Given the description of an element on the screen output the (x, y) to click on. 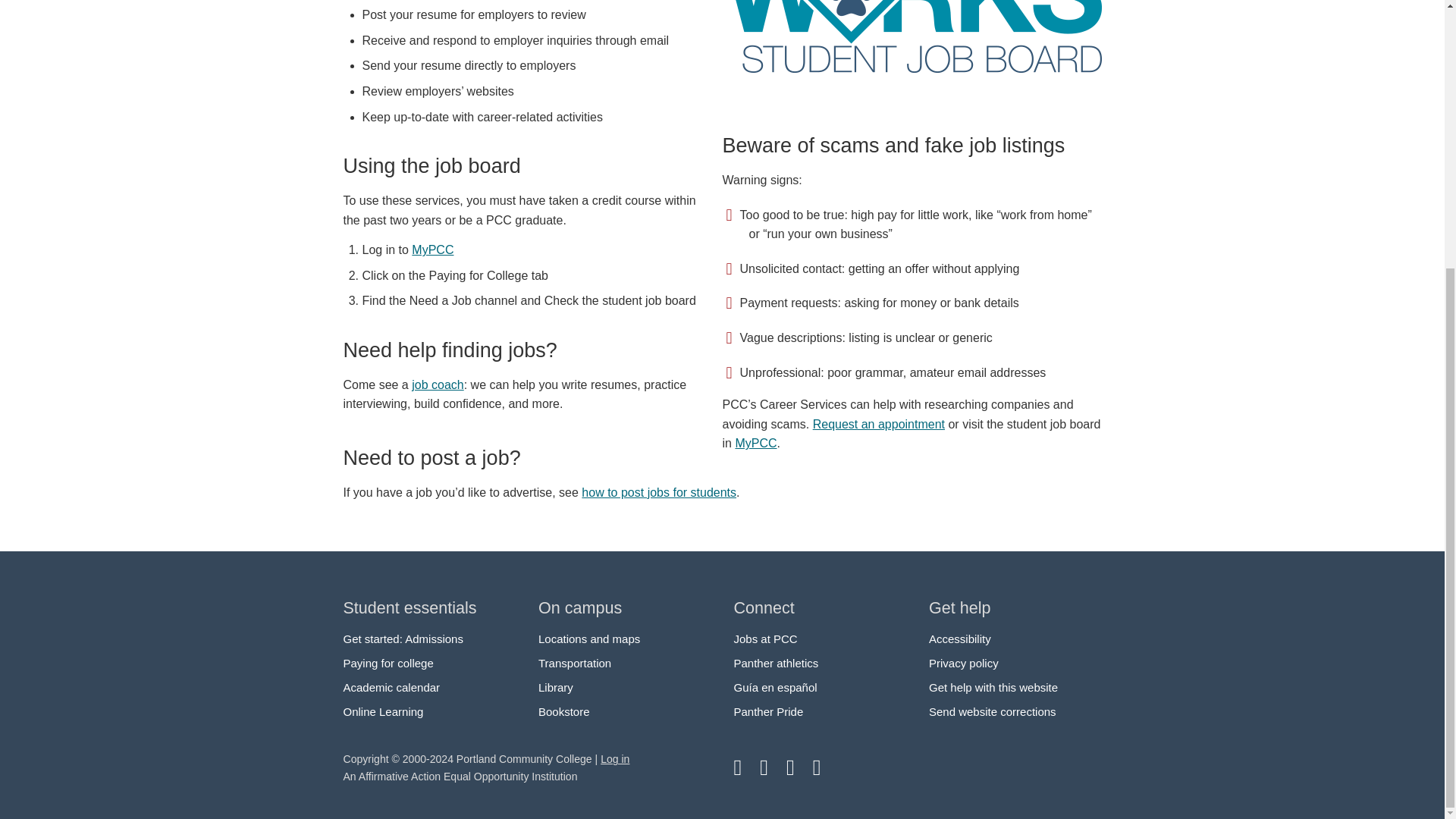
Academic calendar (390, 686)
how to post jobs for students (658, 492)
job coach (438, 384)
Accessibility (959, 638)
Library (555, 686)
Privacy policy (963, 662)
Request an appointment (878, 423)
Get help with this website (993, 686)
Online Learning (382, 711)
MyPCC (755, 442)
Locations and maps (589, 638)
Transportation (574, 662)
Panther Pride (768, 711)
Paying for college (387, 662)
Jobs at PCC (765, 638)
